Given the description of an element on the screen output the (x, y) to click on. 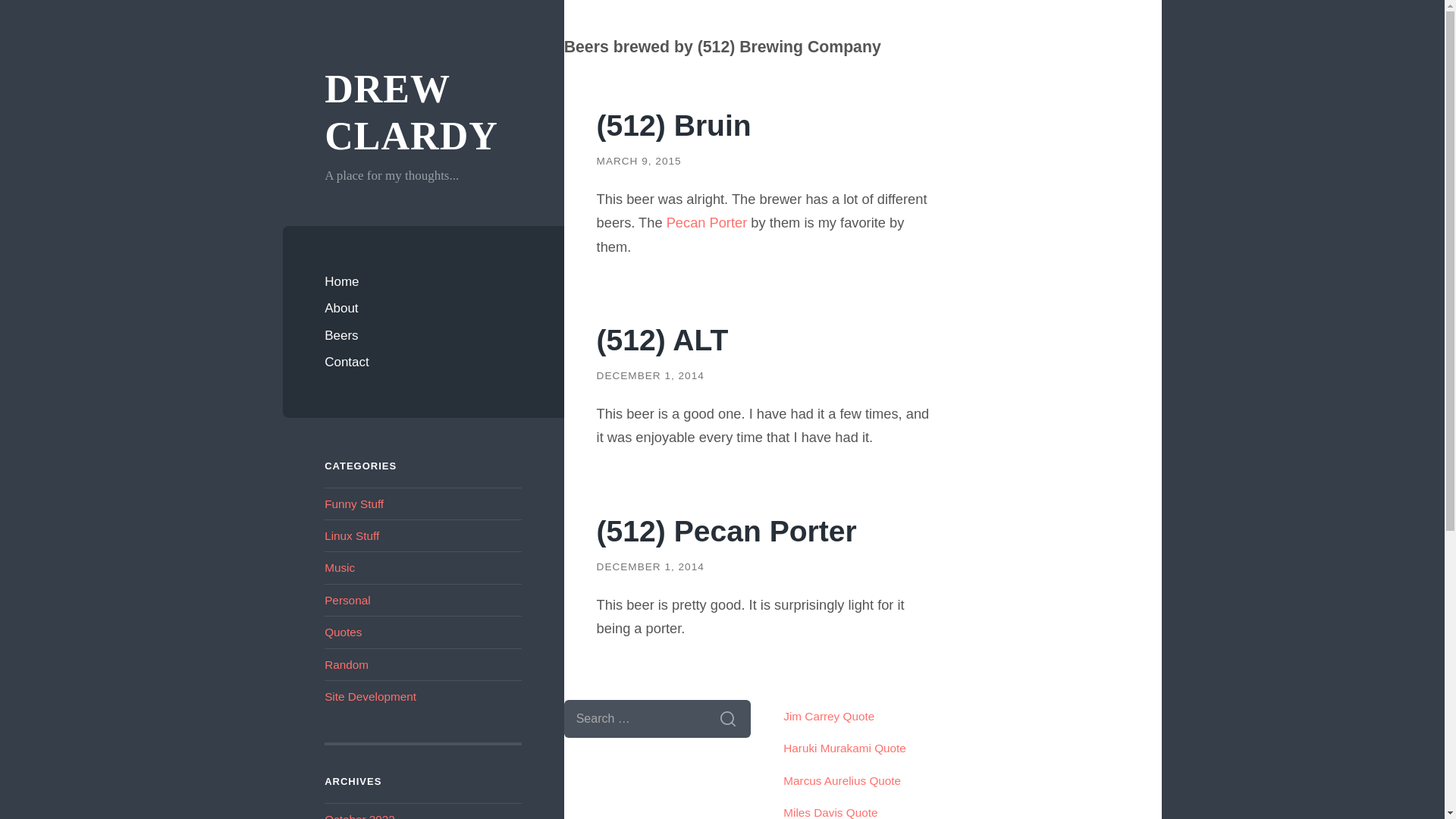
Beers (422, 335)
Site Development (370, 696)
Music (339, 567)
Beers (422, 335)
Funny Stuff (354, 503)
DECEMBER 1, 2014 (650, 566)
Random (346, 664)
Contact (422, 361)
Marcus Aurelius Quote (842, 780)
Search (727, 718)
Haruki Murakami Quote (844, 748)
Linux Stuff (351, 535)
Search (727, 718)
Home (422, 281)
